Given the description of an element on the screen output the (x, y) to click on. 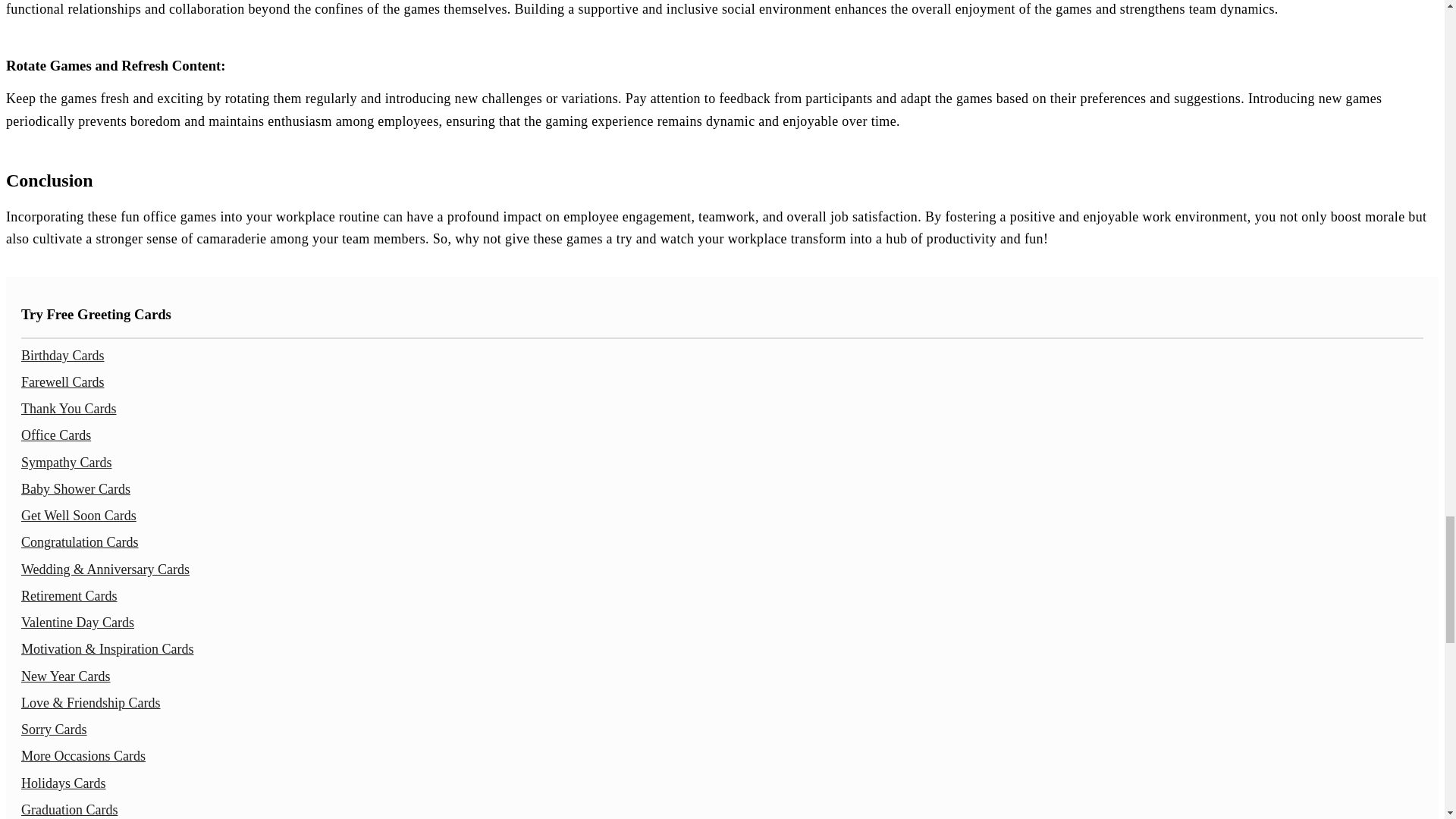
Office Cards (55, 435)
Holidays Cards (63, 783)
Graduation Cards (69, 809)
Farewell Cards (62, 381)
Baby Shower Cards (76, 488)
Get Well Soon Cards (78, 515)
Birthday Cards (62, 355)
Sympathy Cards (66, 462)
Thank You Cards (68, 408)
Valentine Day Cards (77, 622)
